Given the description of an element on the screen output the (x, y) to click on. 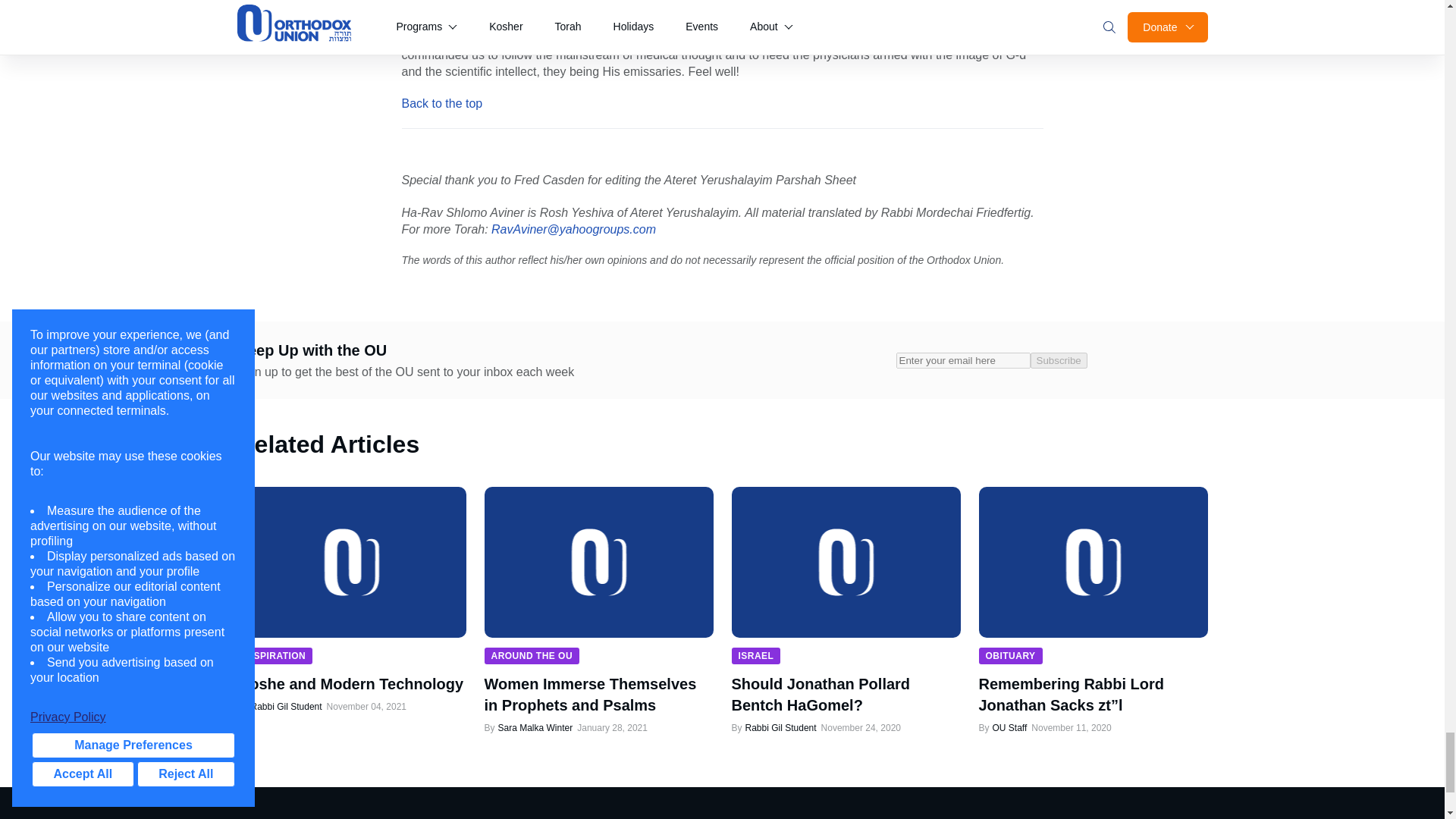
Posts by Rabbi Gil Student (780, 727)
Posts by OU Staff (1009, 727)
Posts by Sara Malka Winter (534, 727)
Posts by Rabbi Gil Student (284, 706)
